Given the description of an element on the screen output the (x, y) to click on. 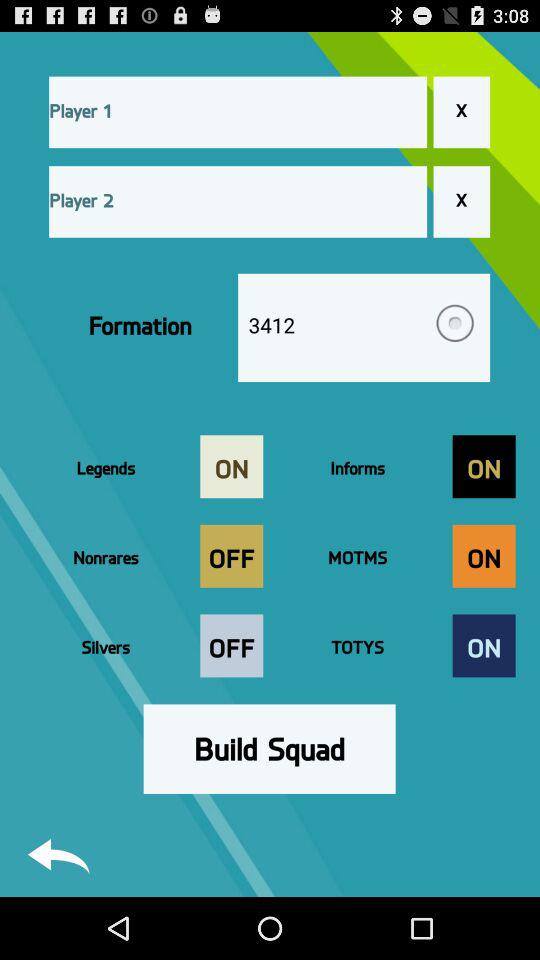
text box (238, 111)
